Given the description of an element on the screen output the (x, y) to click on. 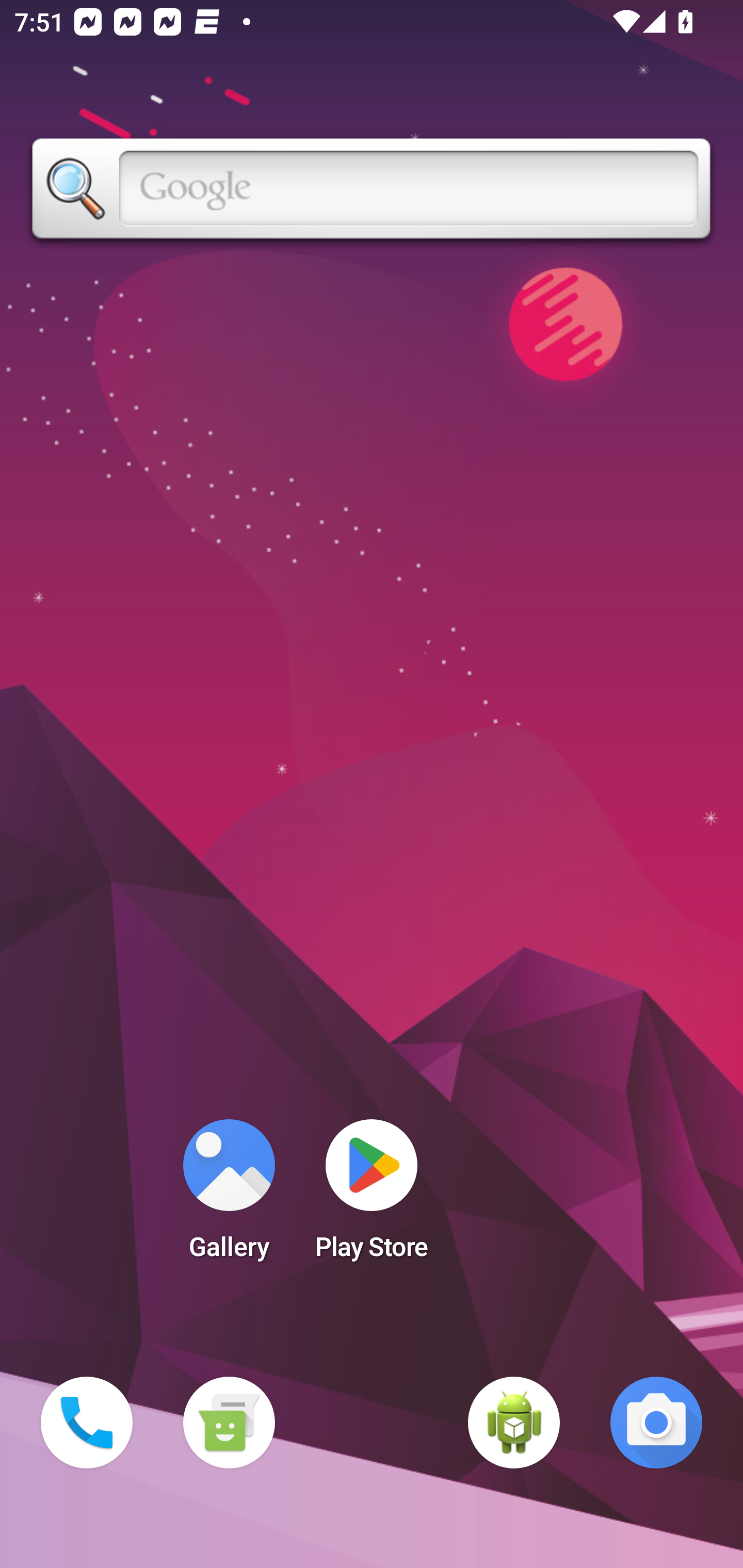
Gallery (228, 1195)
Play Store (371, 1195)
Phone (86, 1422)
Messaging (228, 1422)
WebView Browser Tester (513, 1422)
Camera (656, 1422)
